Given the description of an element on the screen output the (x, y) to click on. 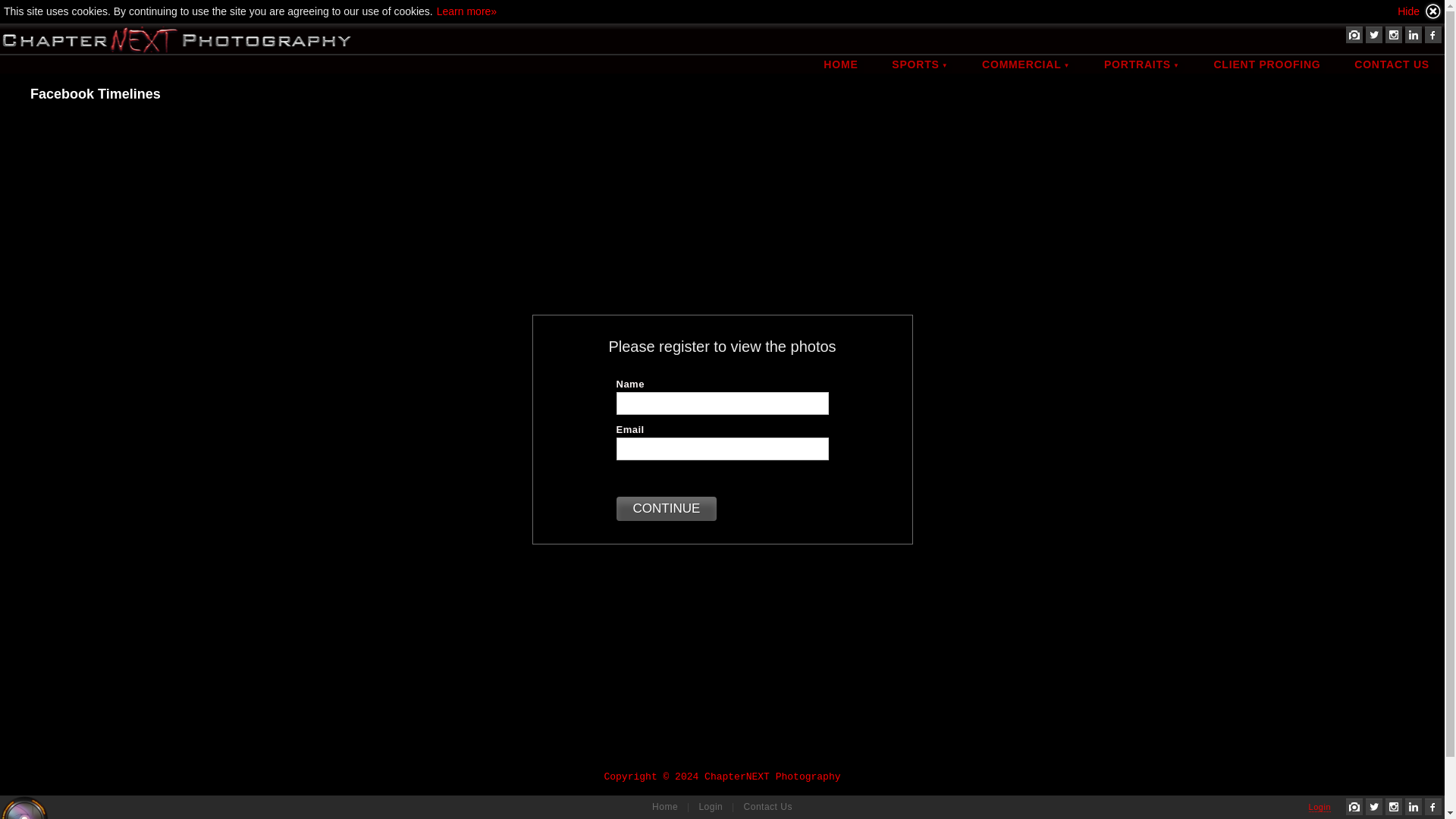
Hide (1419, 11)
Login (712, 806)
ChapterNEXT Photography (175, 38)
ChapterNEXT Photography (24, 807)
CLIENT PROOFING (1266, 64)
Login (1319, 807)
HOME (840, 64)
Home (666, 806)
